Given the description of an element on the screen output the (x, y) to click on. 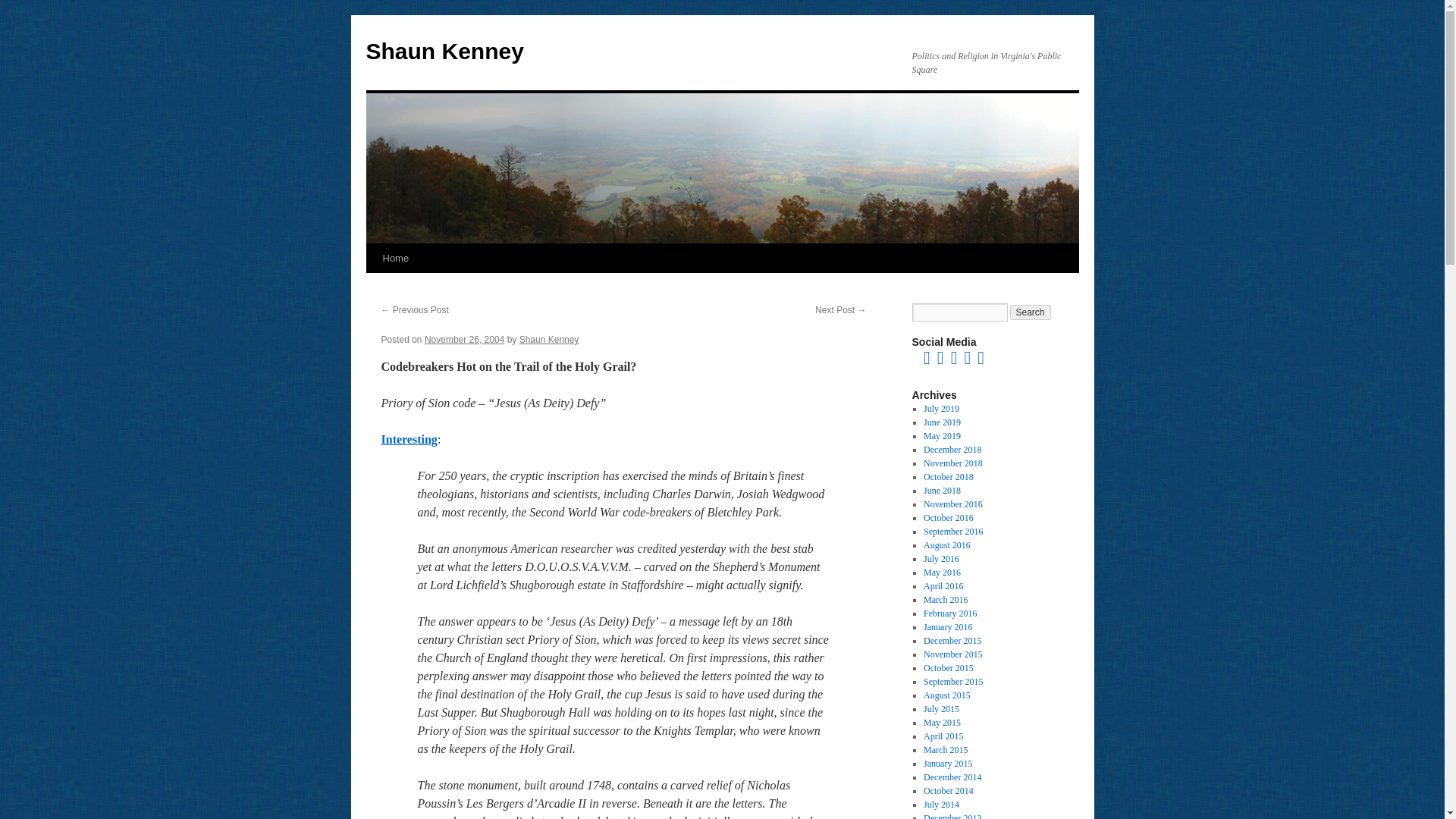
Search (1030, 312)
Search (1030, 312)
View all posts by Shaun Kenney (549, 339)
Shaun Kenney (443, 50)
August 2016 (947, 544)
June 2019 (941, 421)
September 2016 (952, 531)
May 2019 (941, 435)
April 2016 (942, 585)
8:19 am (464, 339)
November 26, 2004 (464, 339)
October 2016 (948, 517)
June 2018 (941, 490)
November 2016 (952, 503)
Home (395, 258)
